Given the description of an element on the screen output the (x, y) to click on. 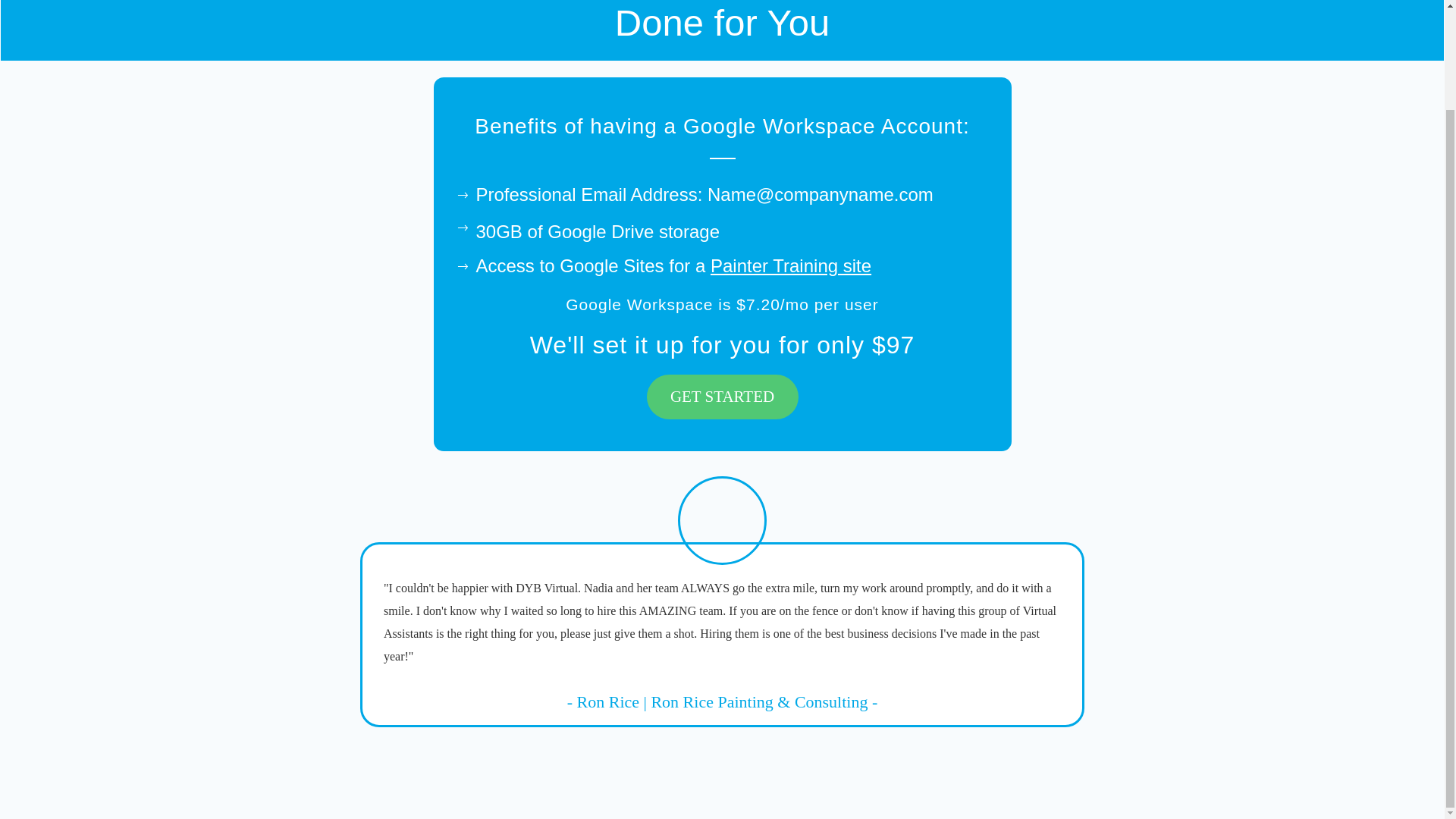
30GB of Google Drive storage (598, 231)
DYB Virtual Testimonial Ron Rice (721, 520)
GET STARTED (721, 396)
Access to Google Sites for a Painter Training site (674, 265)
